Given the description of an element on the screen output the (x, y) to click on. 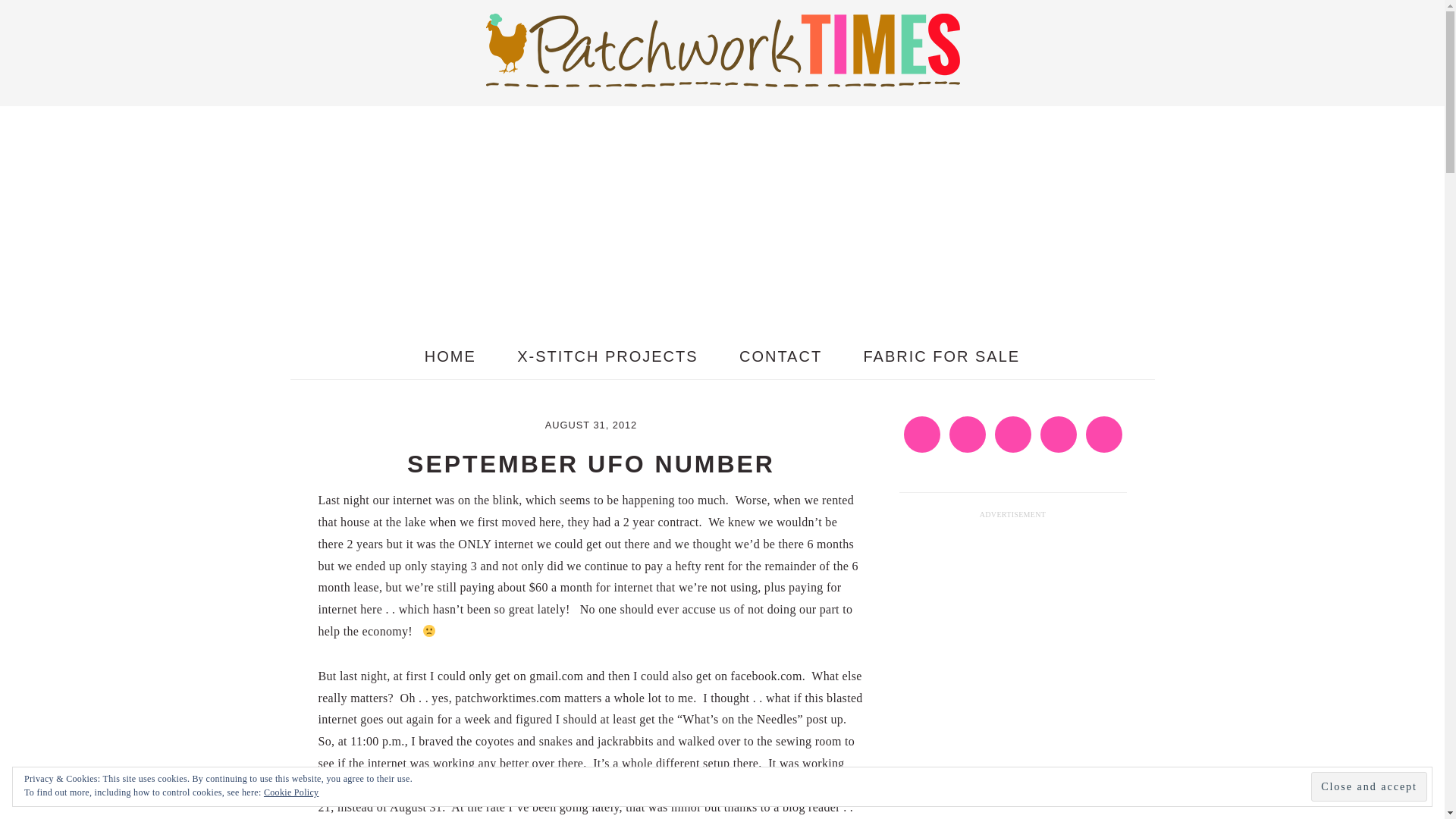
Patchwork Times by Judy Laquidara (721, 48)
CONTACT (780, 356)
X-STITCH PROJECTS (606, 356)
HOME (450, 356)
Close and accept (1368, 786)
FABRIC FOR SALE (941, 356)
Patchwork Times by Judy Laquidara (721, 74)
